Given the description of an element on the screen output the (x, y) to click on. 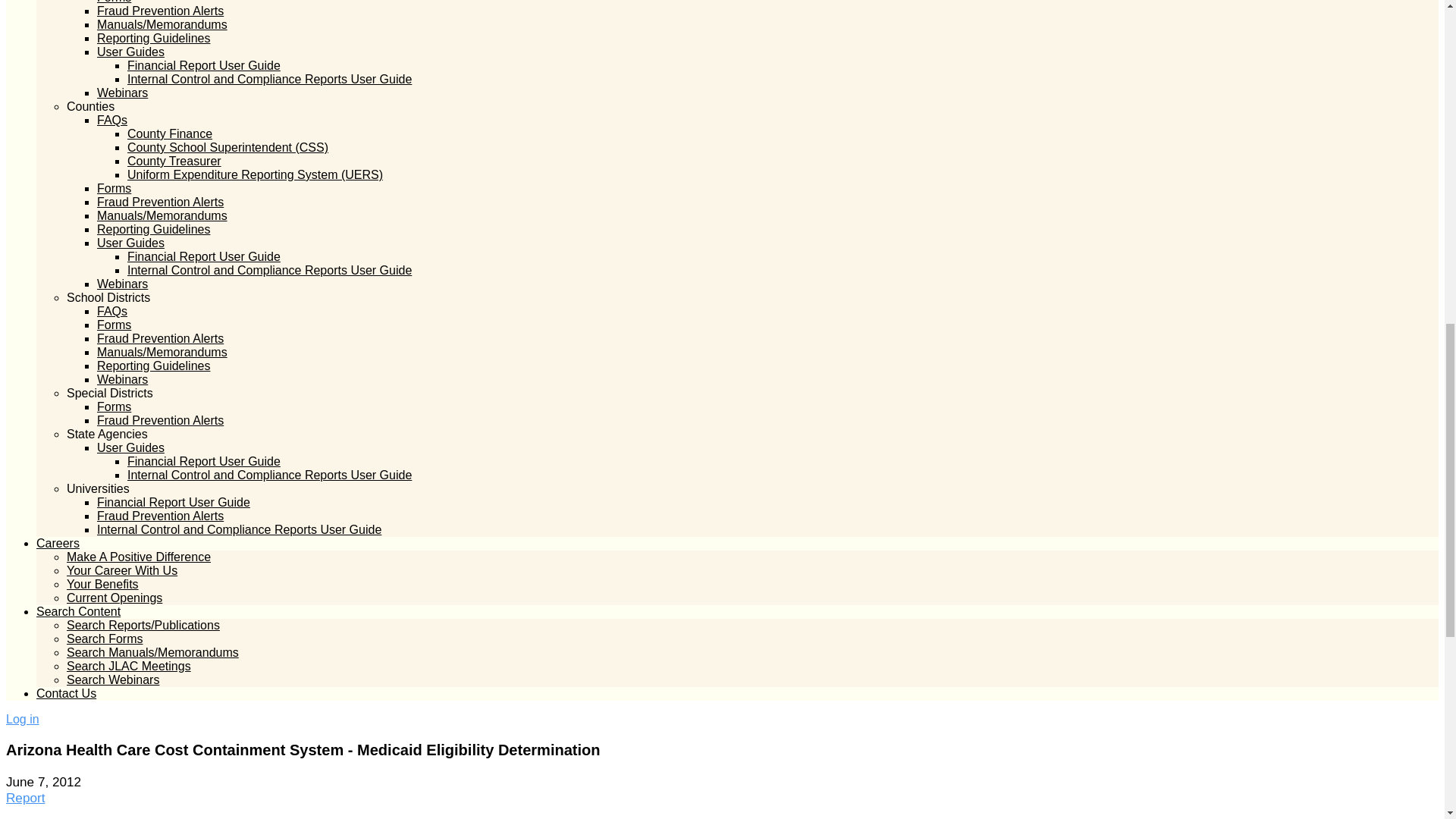
Reporting Guidelines for Counties (153, 228)
Reporting Guidelines for School Districts (153, 365)
Reporting Guidelines (153, 38)
